Given the description of an element on the screen output the (x, y) to click on. 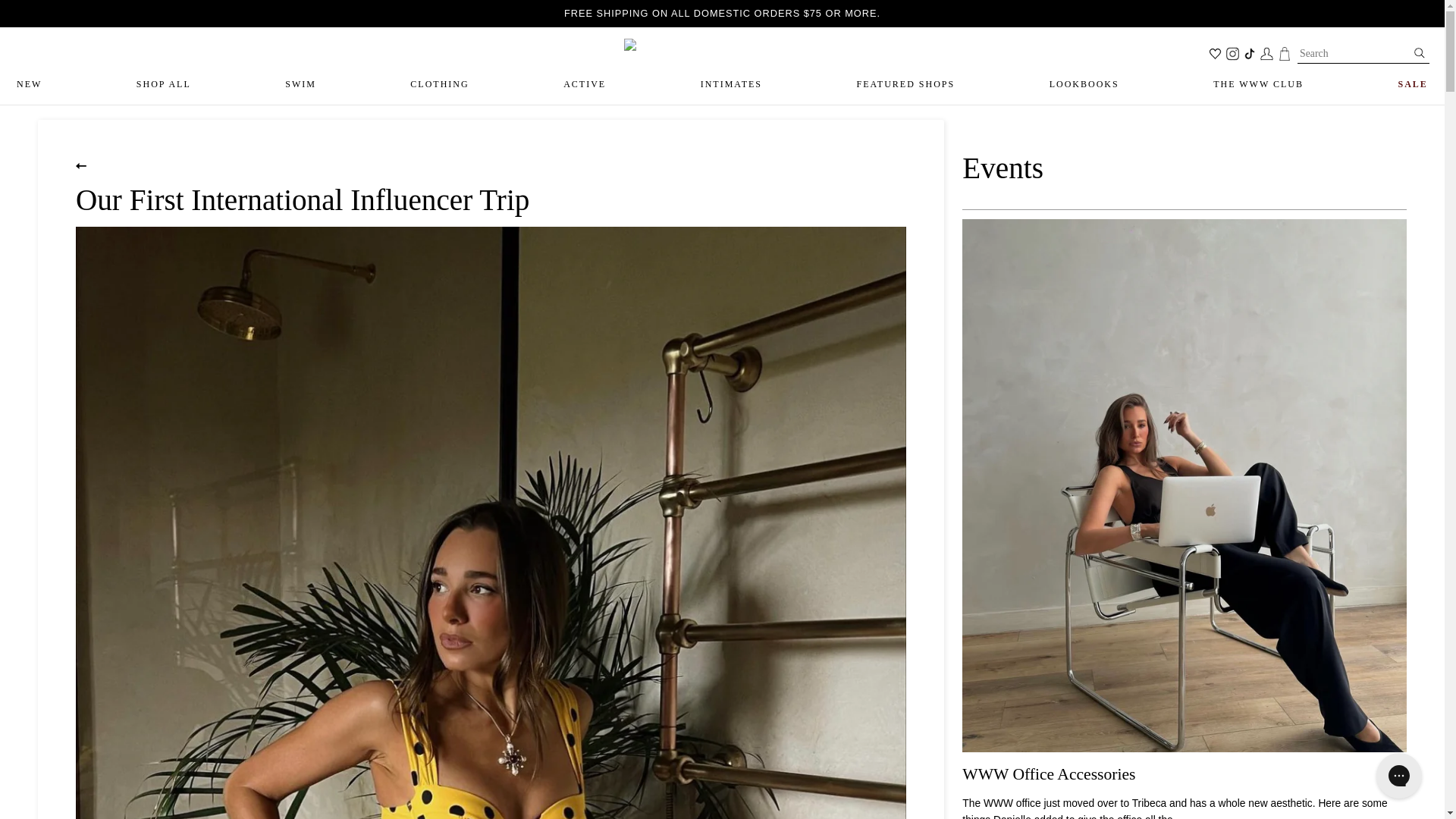
SWIM (300, 84)
NEW (28, 84)
Gorgias live chat messenger (1398, 775)
SHOP ALL (163, 84)
CLOTHING (439, 84)
